Given the description of an element on the screen output the (x, y) to click on. 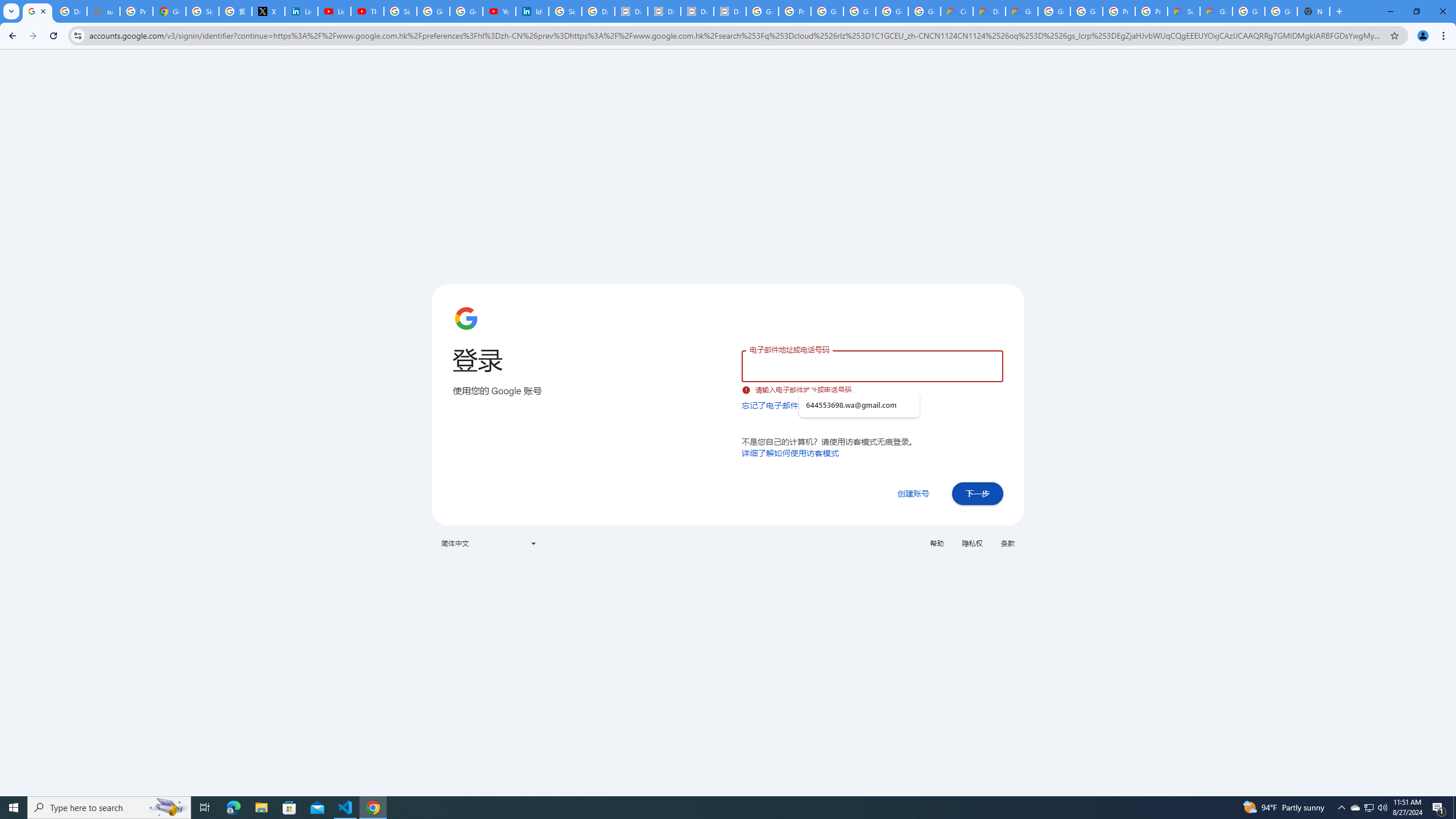
Sign in - Google Accounts (564, 11)
Sign in - Google Accounts (400, 11)
Google Cloud Platform (1086, 11)
